Given the description of an element on the screen output the (x, y) to click on. 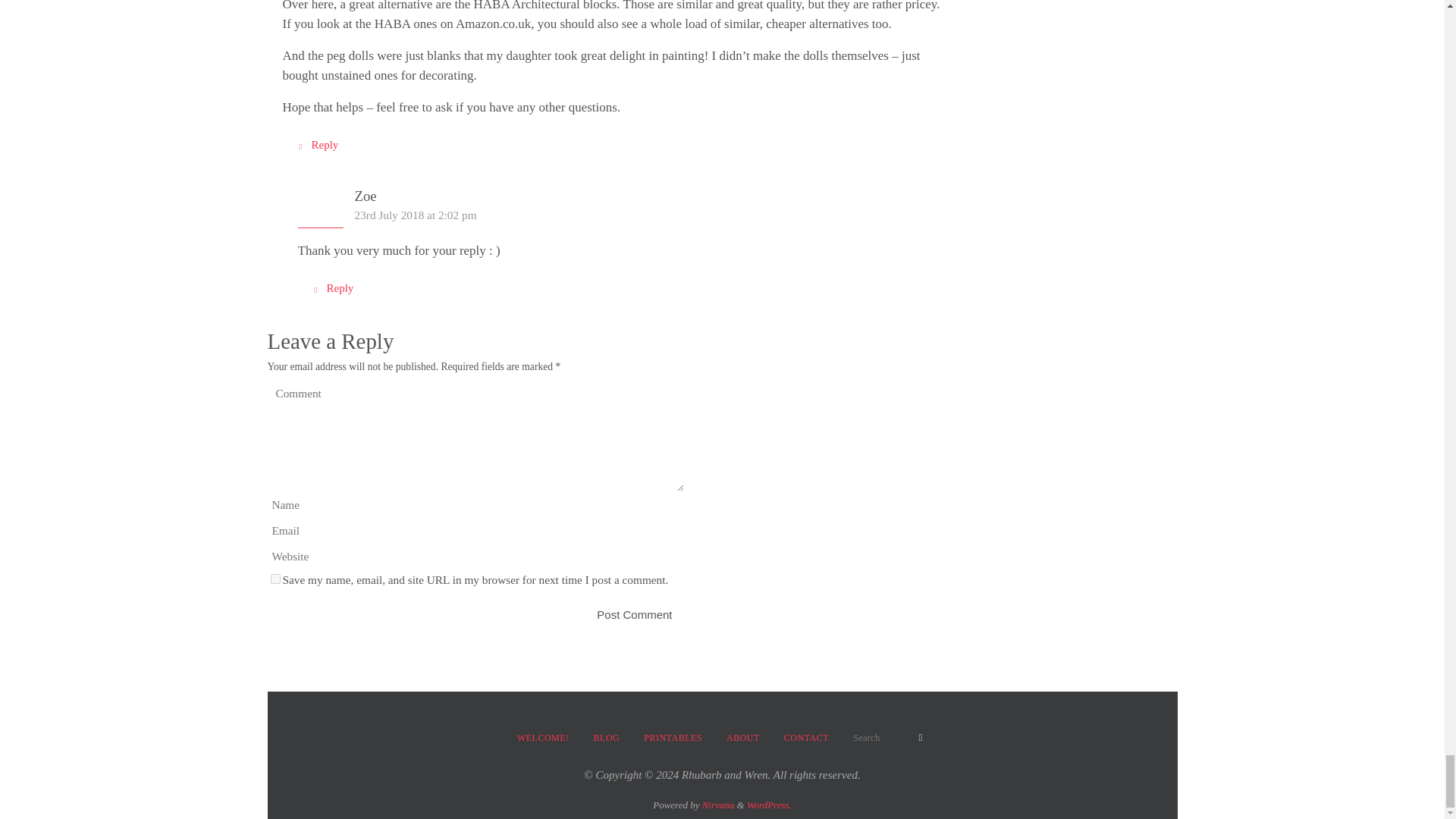
Post Comment (634, 614)
Semantic Personal Publishing Platform (769, 804)
yes (274, 578)
Nirvana Theme by Cryout Creations (718, 804)
